Given the description of an element on the screen output the (x, y) to click on. 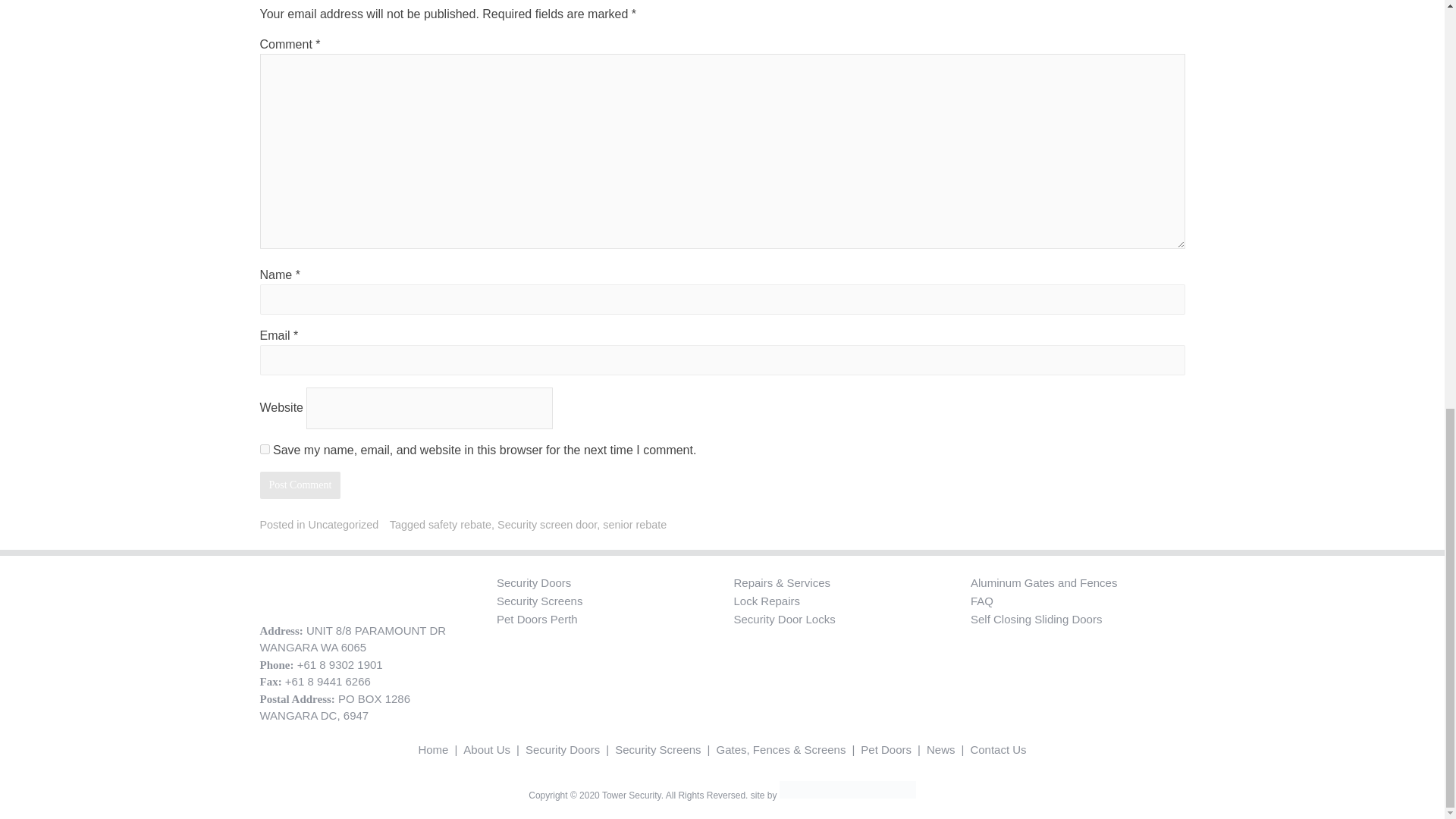
Post Comment (299, 484)
Uncategorized (342, 524)
safety rebate (460, 524)
yes (264, 449)
Post Comment (299, 484)
senior rebate (634, 524)
Security screen door (546, 524)
